Given the description of an element on the screen output the (x, y) to click on. 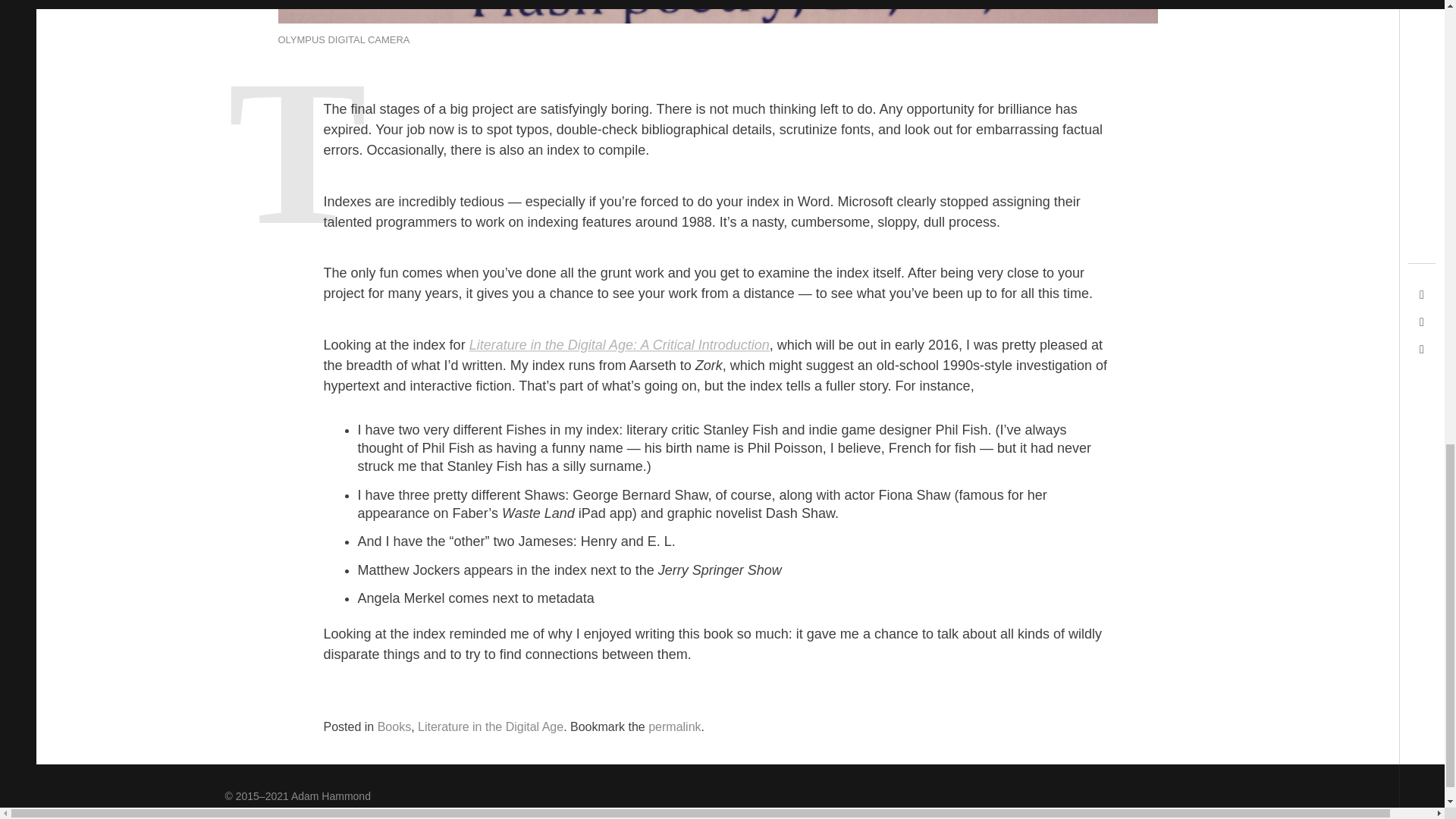
Literature in the Digital Age (490, 726)
permalink (673, 726)
Books (393, 726)
Literature in the Digital Age: A Critical Introduction (619, 344)
